Given the description of an element on the screen output the (x, y) to click on. 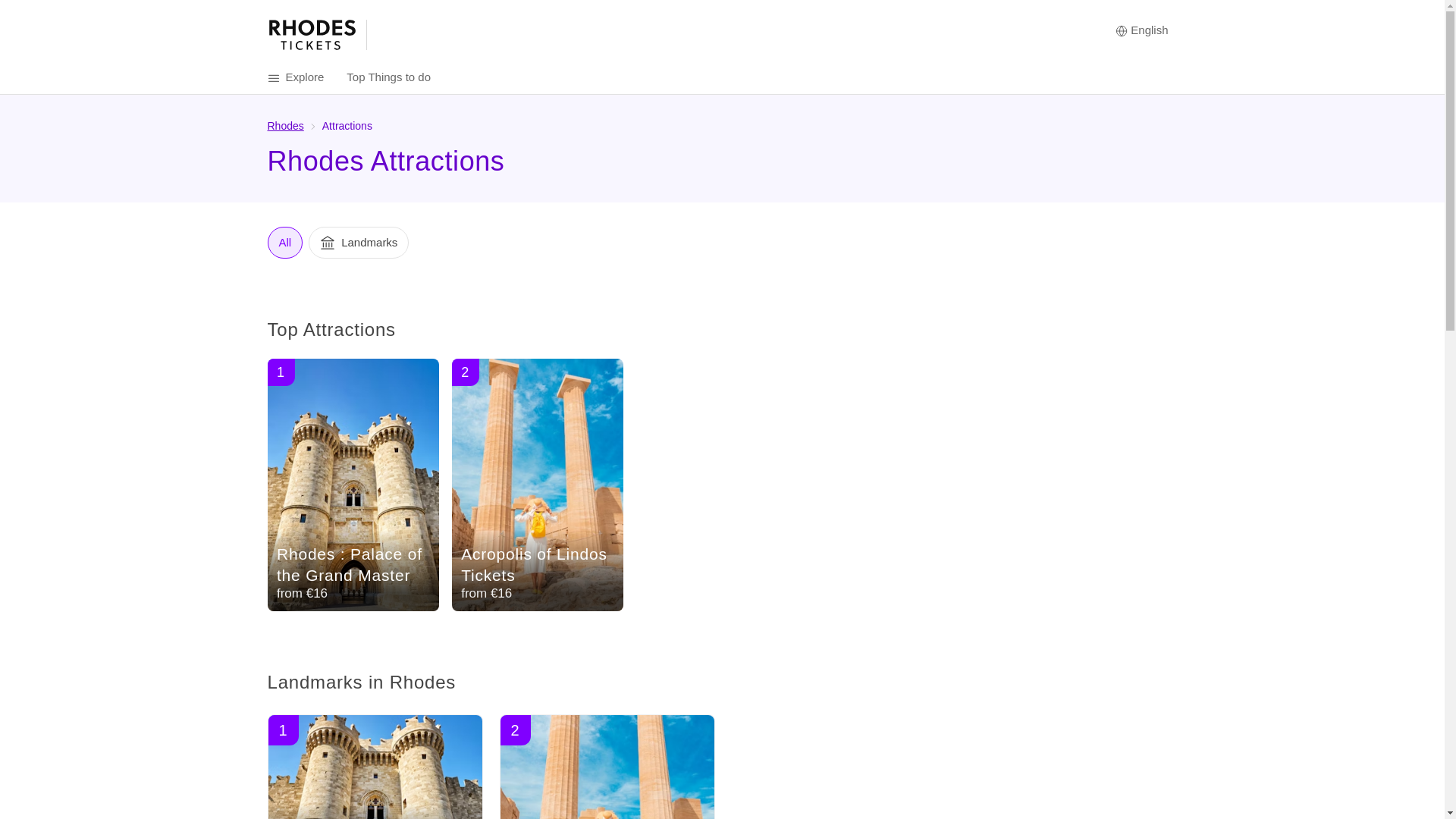
Rhodes (284, 125)
Landmarks (358, 242)
All (284, 242)
